Given the description of an element on the screen output the (x, y) to click on. 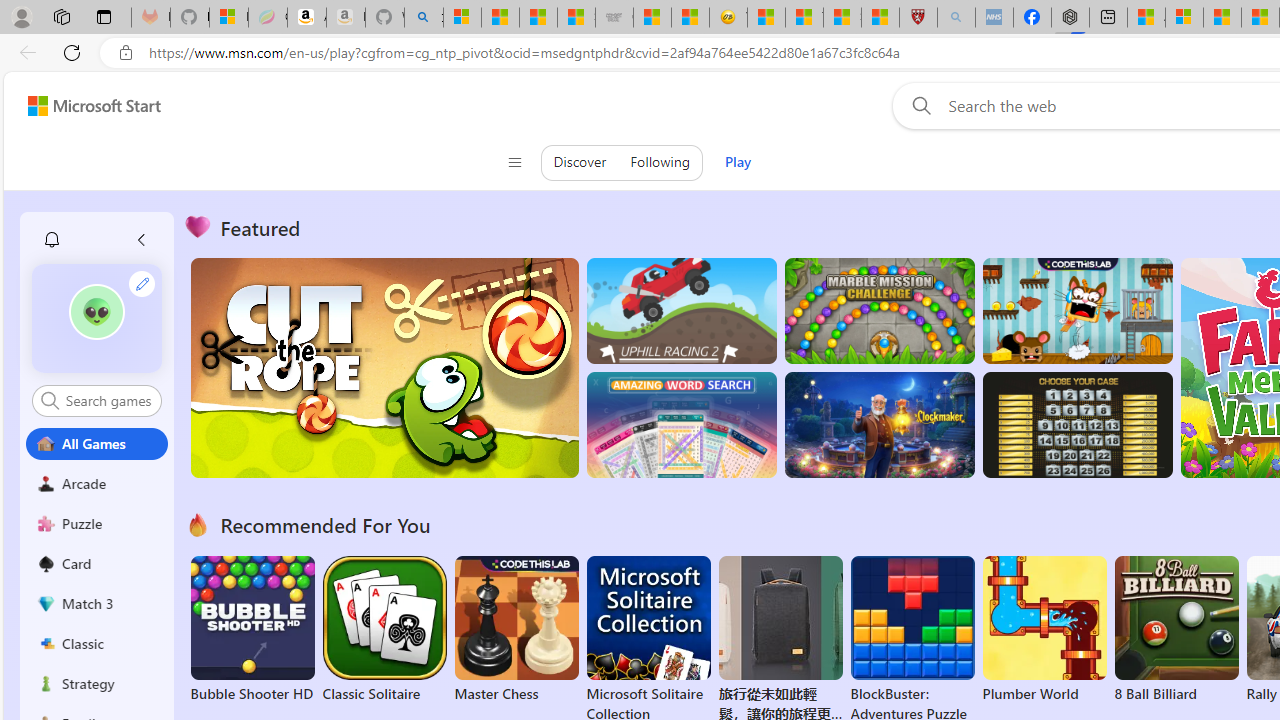
Master Chess (516, 629)
Class: control icon-only (514, 162)
Plumber World (1044, 629)
Clockmaker (879, 425)
Class: search-icon (50, 400)
""'s avatar (97, 318)
Classic Solitaire (384, 629)
